Given the description of an element on the screen output the (x, y) to click on. 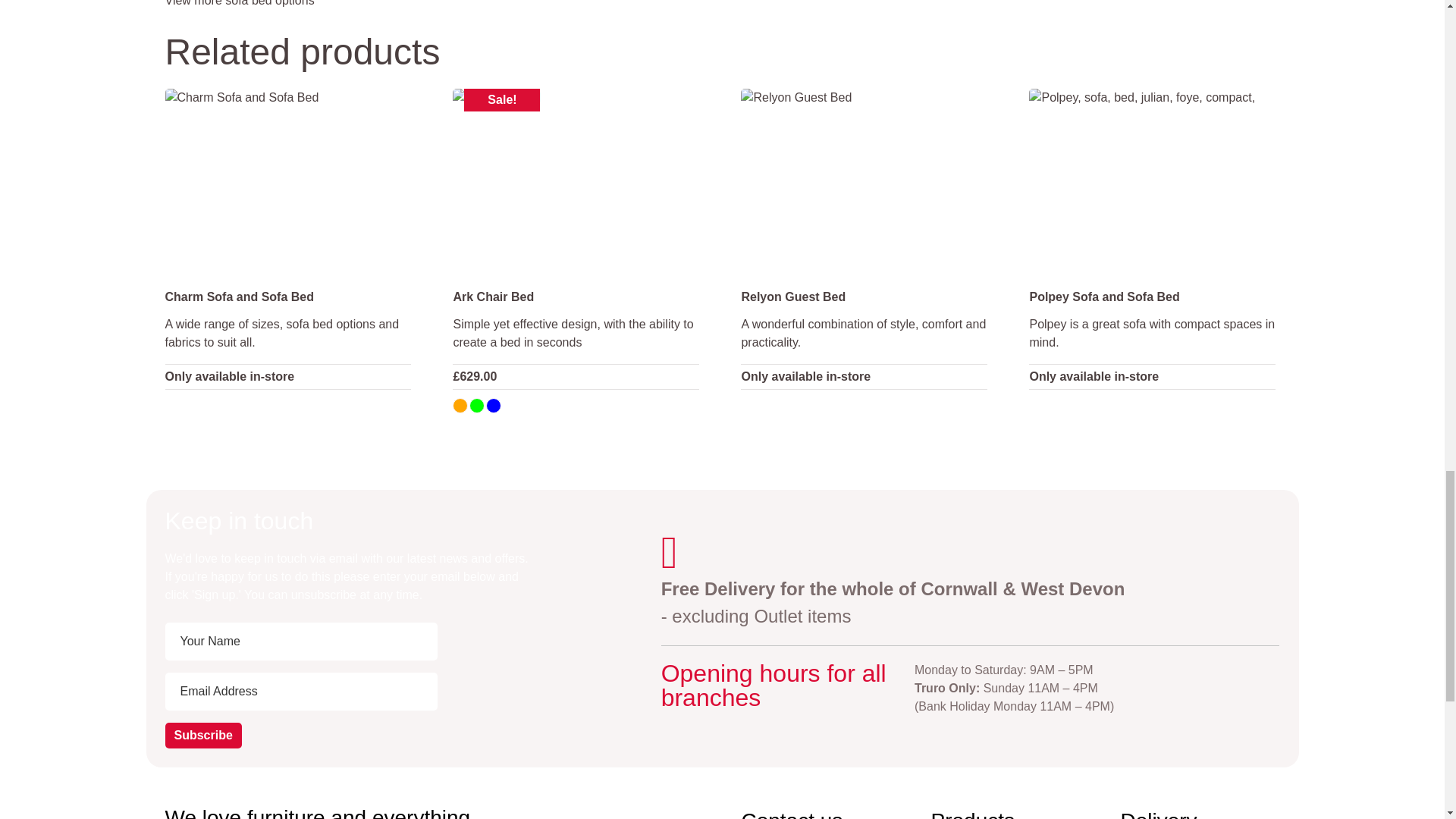
Subscribe (203, 735)
